Given the description of an element on the screen output the (x, y) to click on. 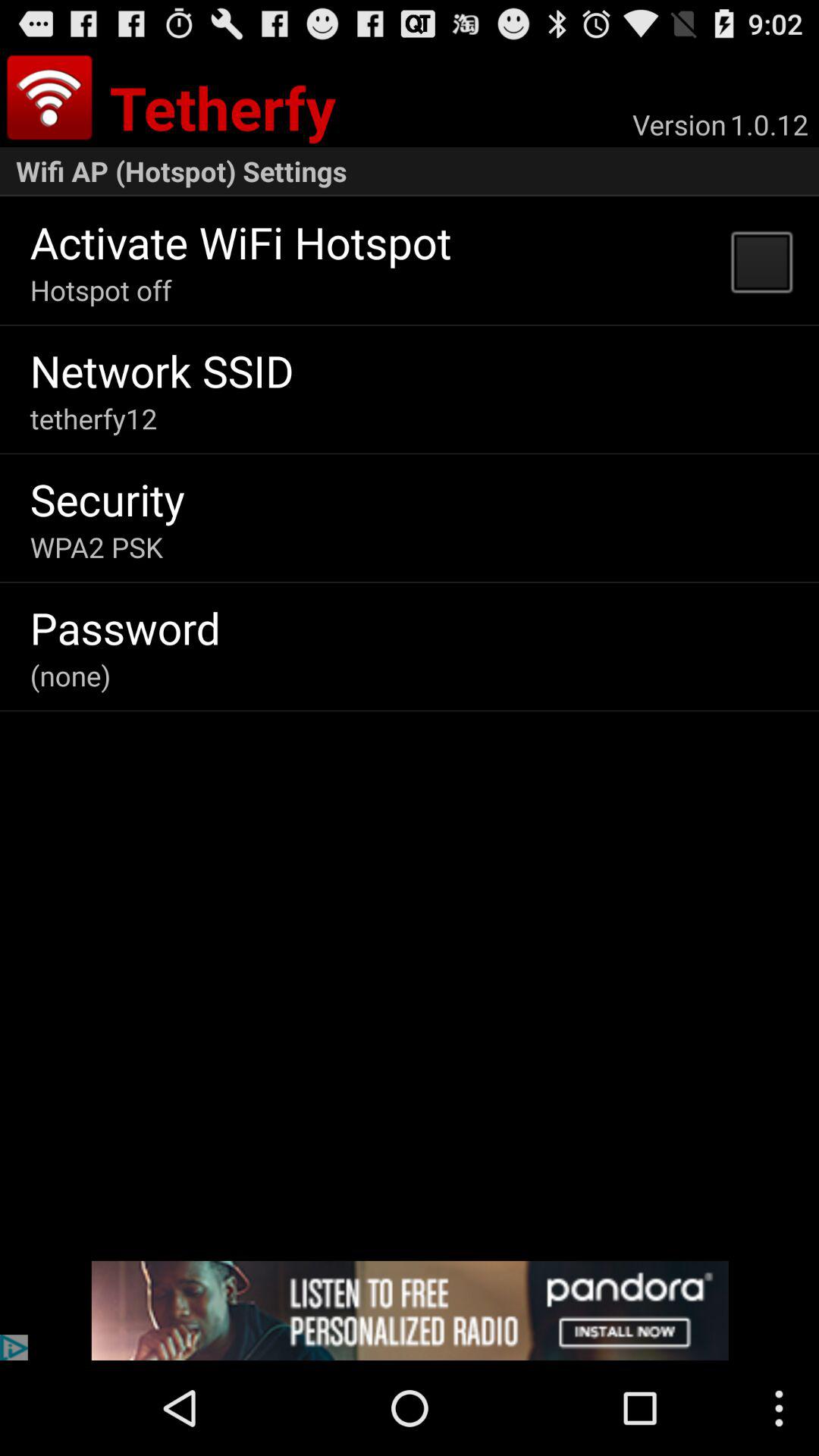
choose the item above the (none) item (125, 627)
